Given the description of an element on the screen output the (x, y) to click on. 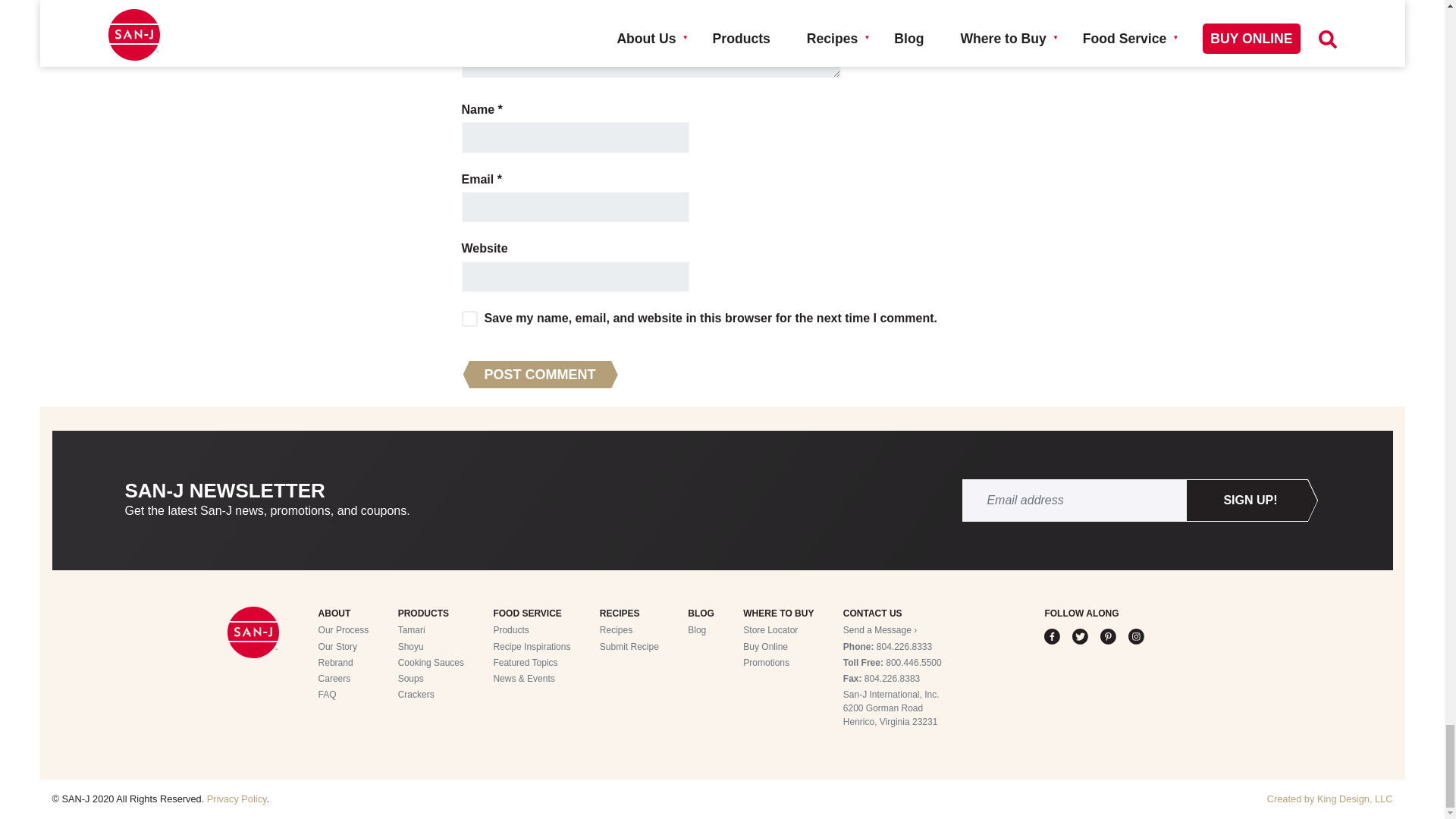
Post Comment (539, 374)
